Given the description of an element on the screen output the (x, y) to click on. 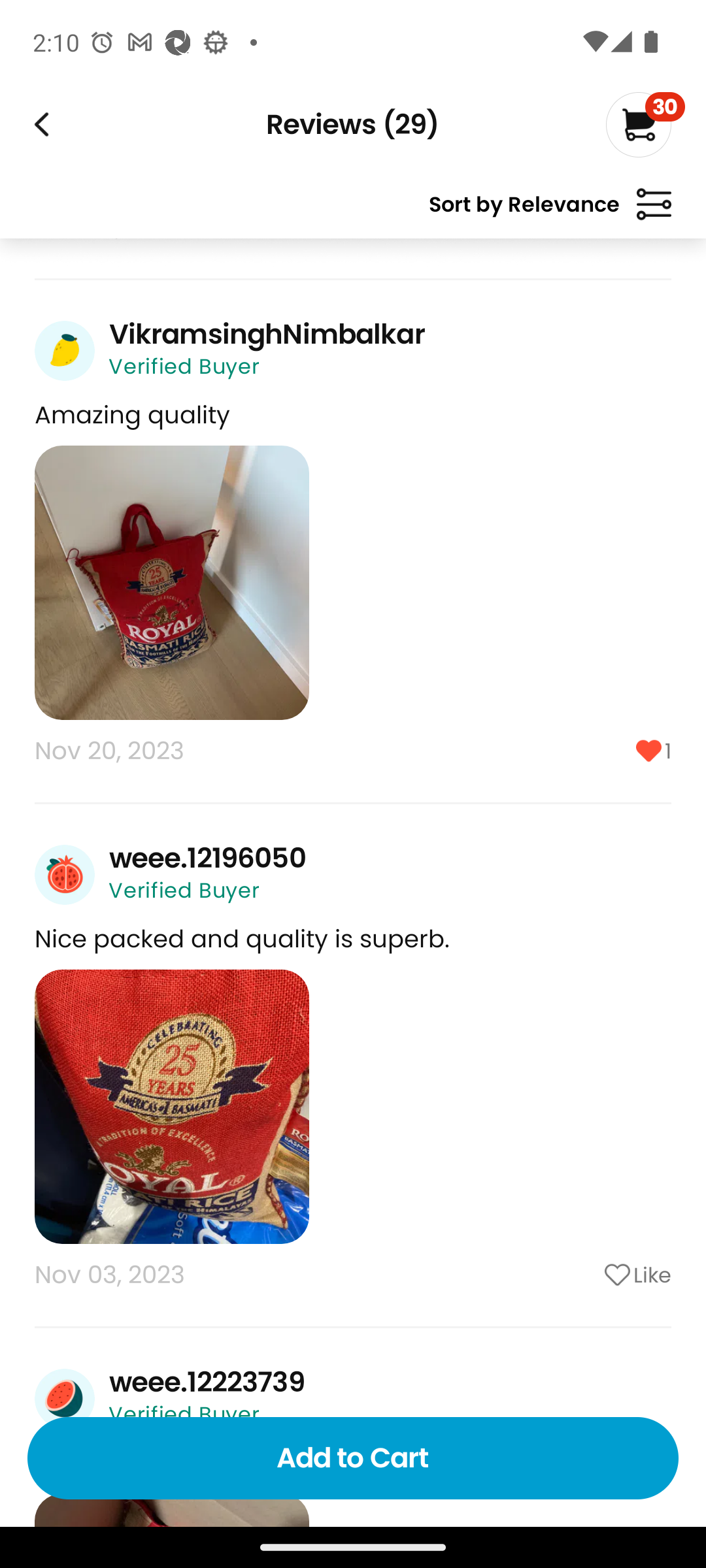
30 (644, 124)
Sort by Relevance (549, 212)
VikramsinghNimbalkar (266, 333)
Verified Buyer (183, 366)
1 (585, 750)
weee.12196050 (206, 858)
Verified Buyer (183, 889)
Like (585, 1274)
weee.12223739 (206, 1381)
Add to Cart (352, 1458)
